Given the description of an element on the screen output the (x, y) to click on. 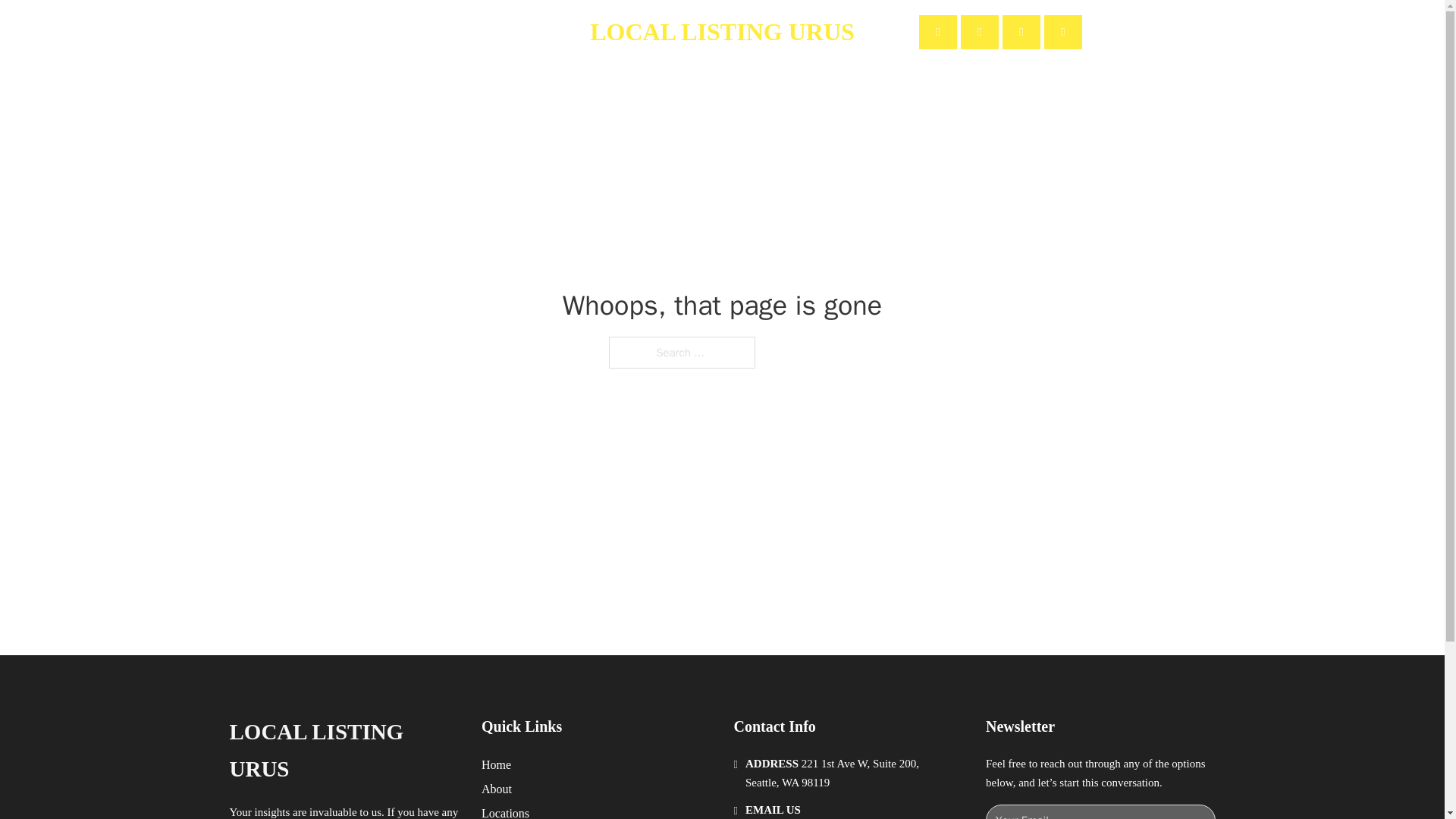
LOCAL LISTING URUS (343, 750)
LOCAL LISTING URUS (721, 31)
Contact (501, 32)
About (496, 788)
Home (496, 764)
Home (381, 32)
About (438, 32)
Locations (505, 811)
